Given the description of an element on the screen output the (x, y) to click on. 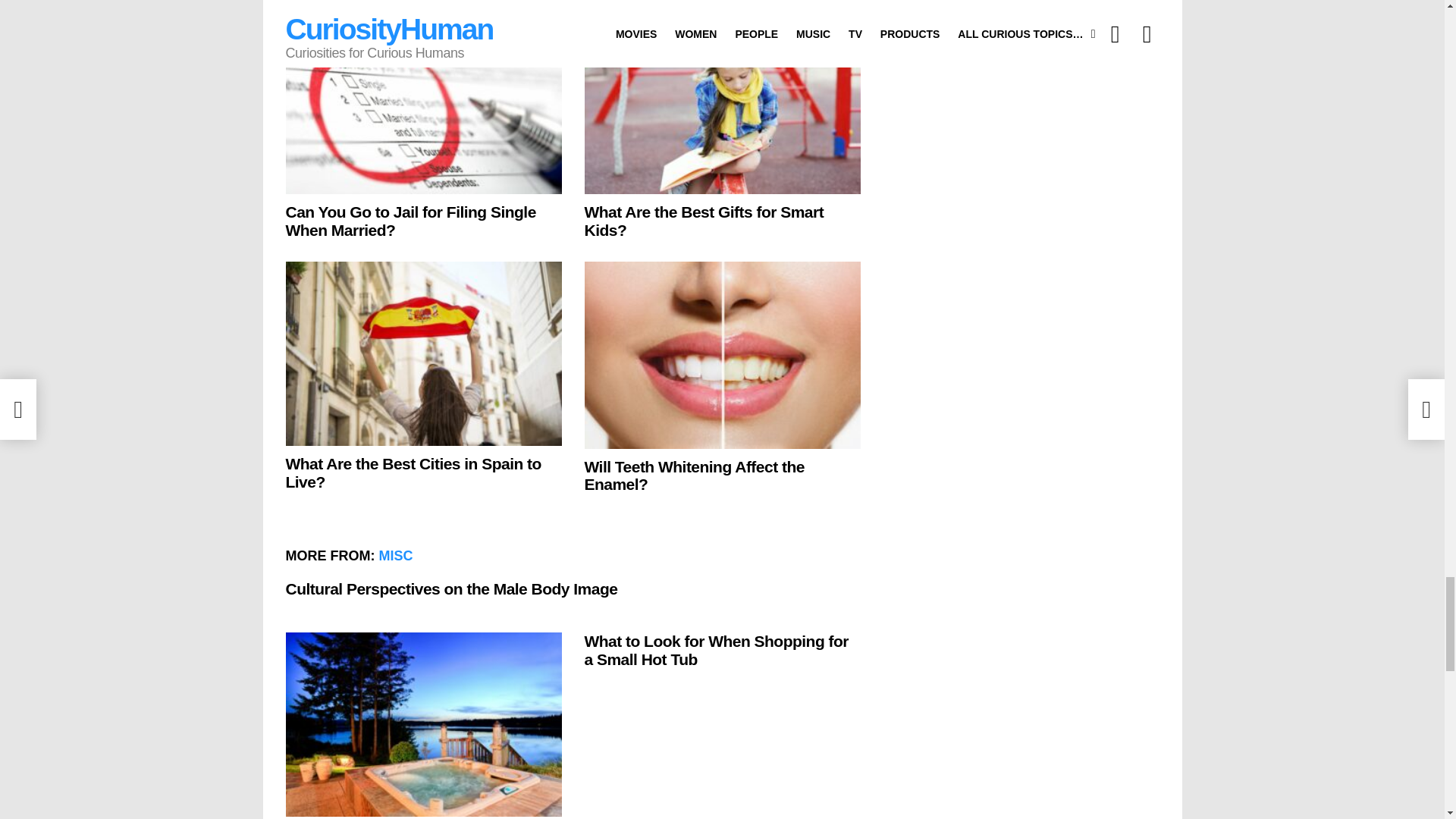
What Are the Best Cities in Spain to Live? (422, 353)
What to Look for When Shopping for a Small Hot Tub (422, 724)
What Are the Best Gifts for Smart Kids? (721, 102)
Will Teeth Whitening Affect the Enamel? (721, 354)
Can You Go to Jail for Filing Single When Married? (422, 102)
